Given the description of an element on the screen output the (x, y) to click on. 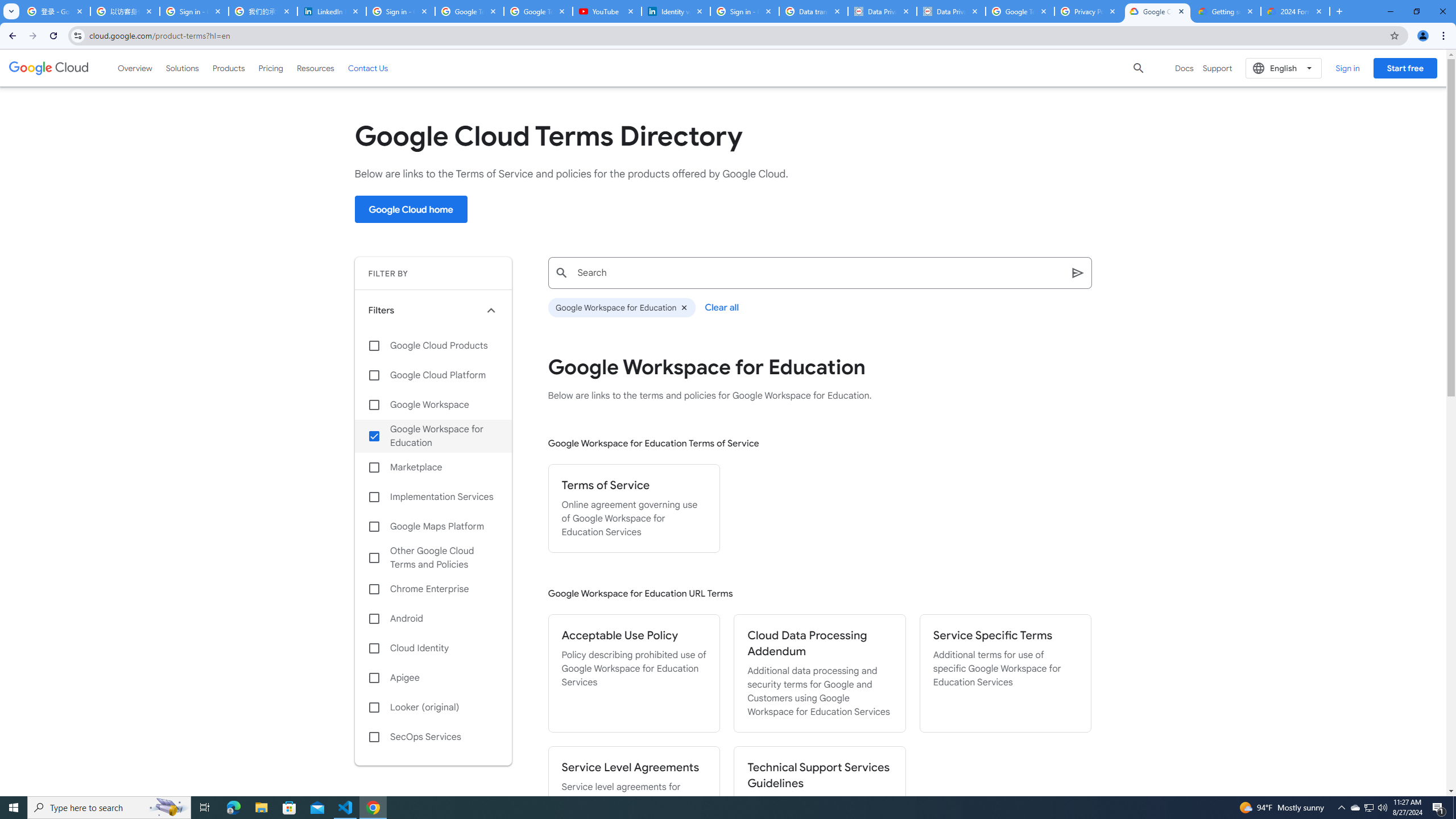
Android (432, 618)
Resources (314, 67)
Contact Us (368, 67)
Pricing (270, 67)
Google Maps Platform (432, 526)
Google Workspace (432, 404)
